Given the description of an element on the screen output the (x, y) to click on. 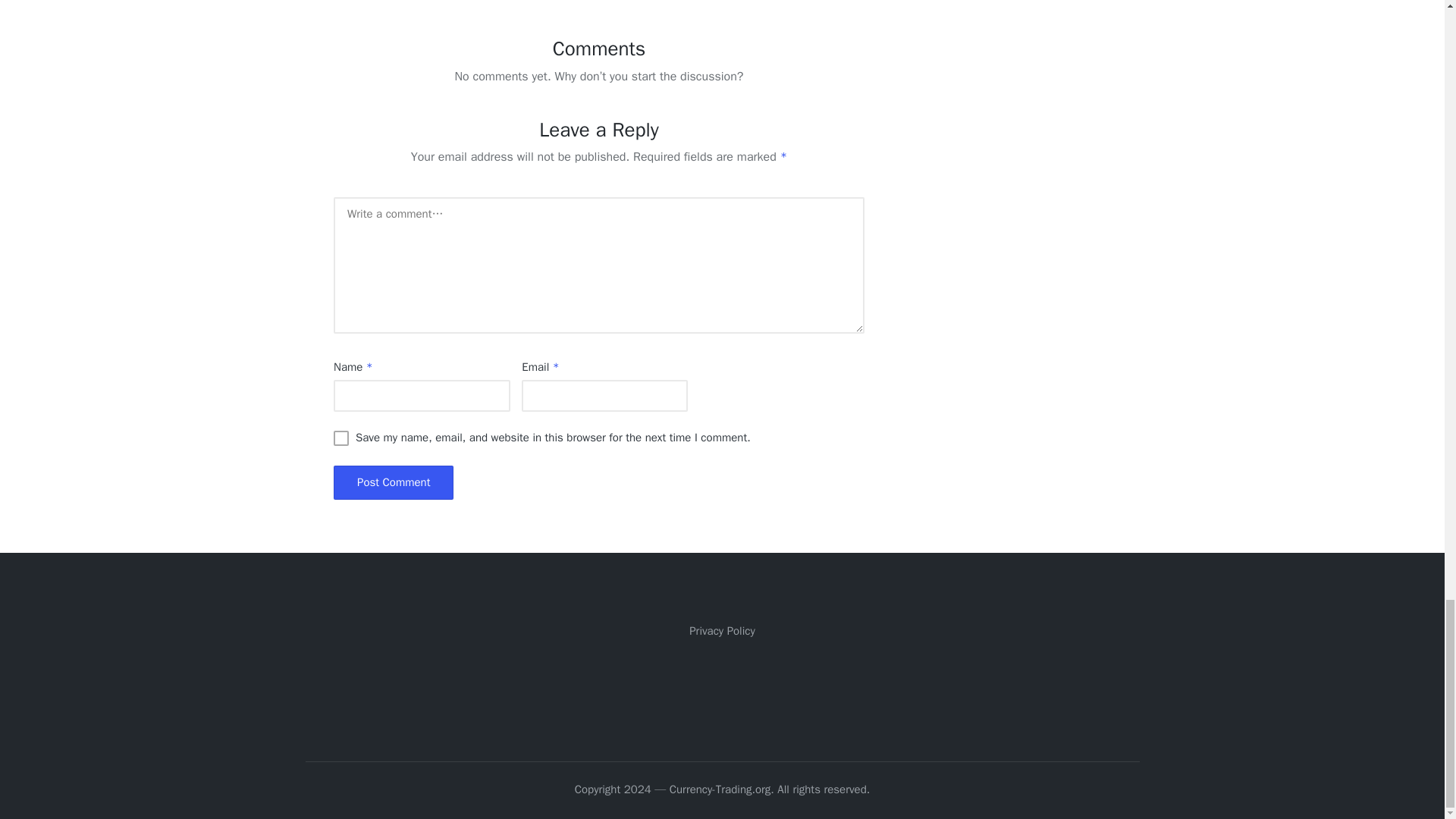
DMCA.com Protection Status (722, 687)
Post Comment (392, 482)
Post Comment (392, 482)
yes (341, 437)
